Given the description of an element on the screen output the (x, y) to click on. 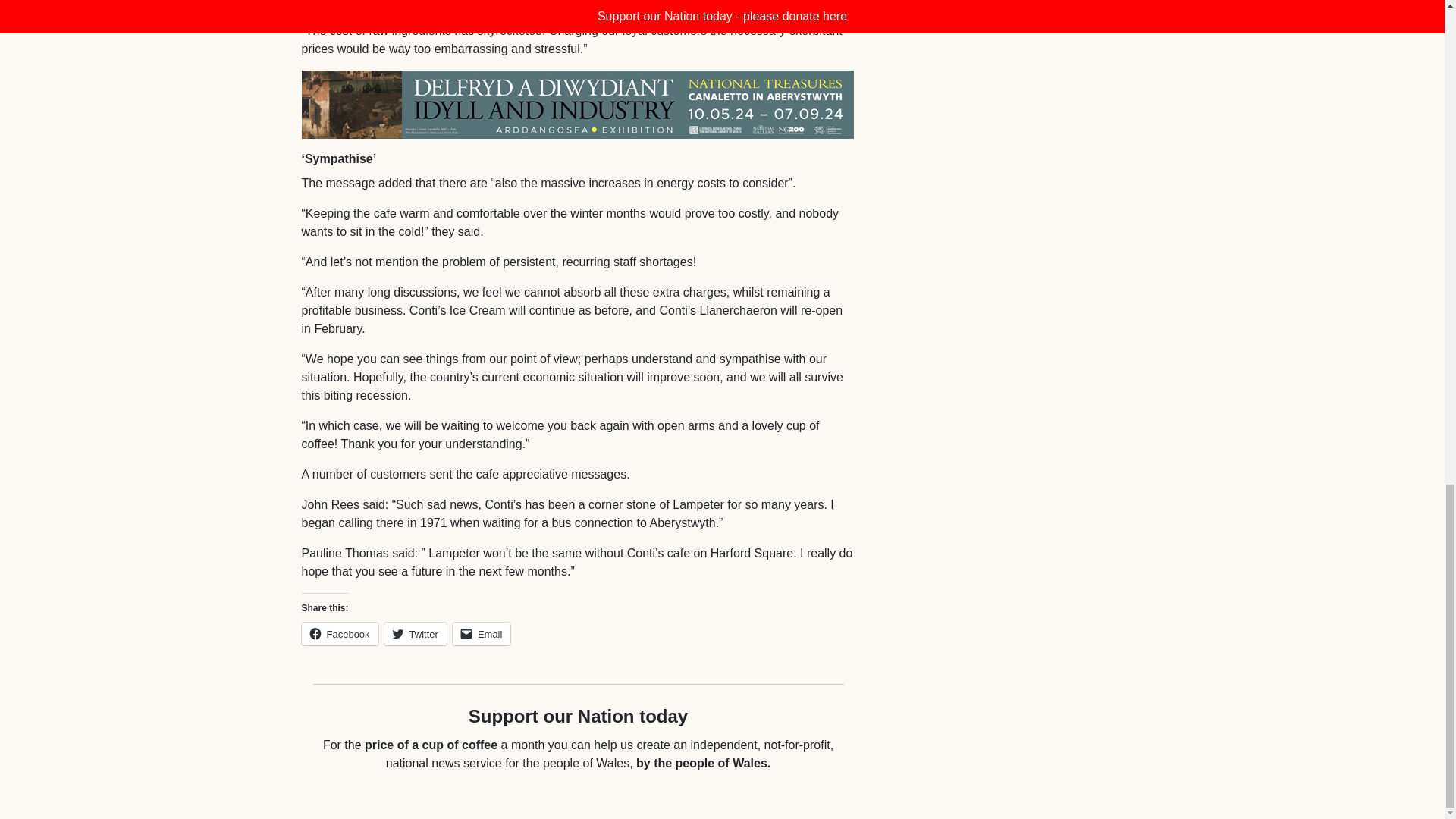
Email (481, 633)
Click to share on Twitter (415, 633)
Click to email a link to a friend (481, 633)
Click to share on Facebook (339, 633)
Facebook (339, 633)
Twitter (415, 633)
